Given the description of an element on the screen output the (x, y) to click on. 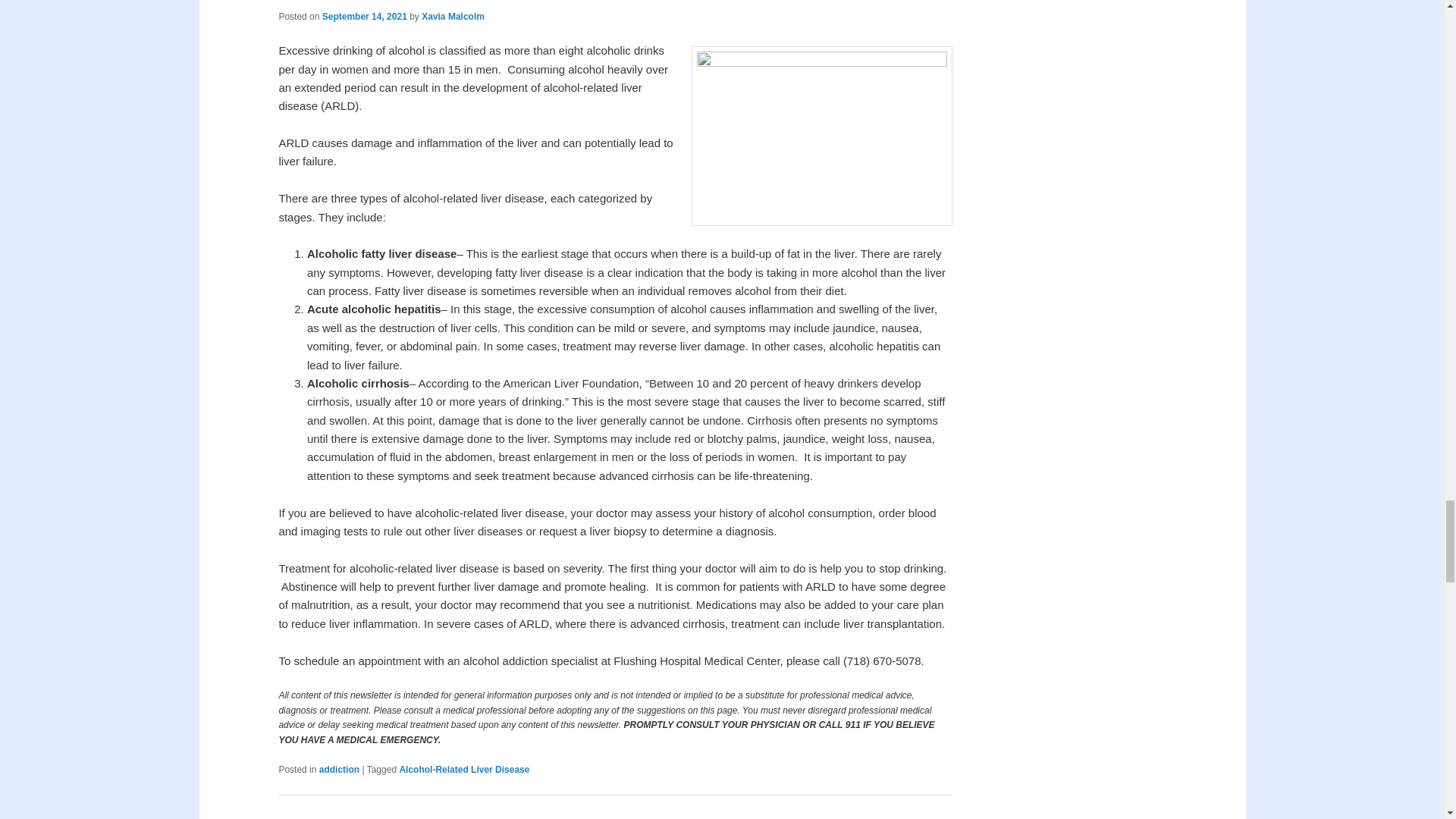
10:01 pm (364, 16)
View all posts by Xavia Malcolm (453, 16)
